Given the description of an element on the screen output the (x, y) to click on. 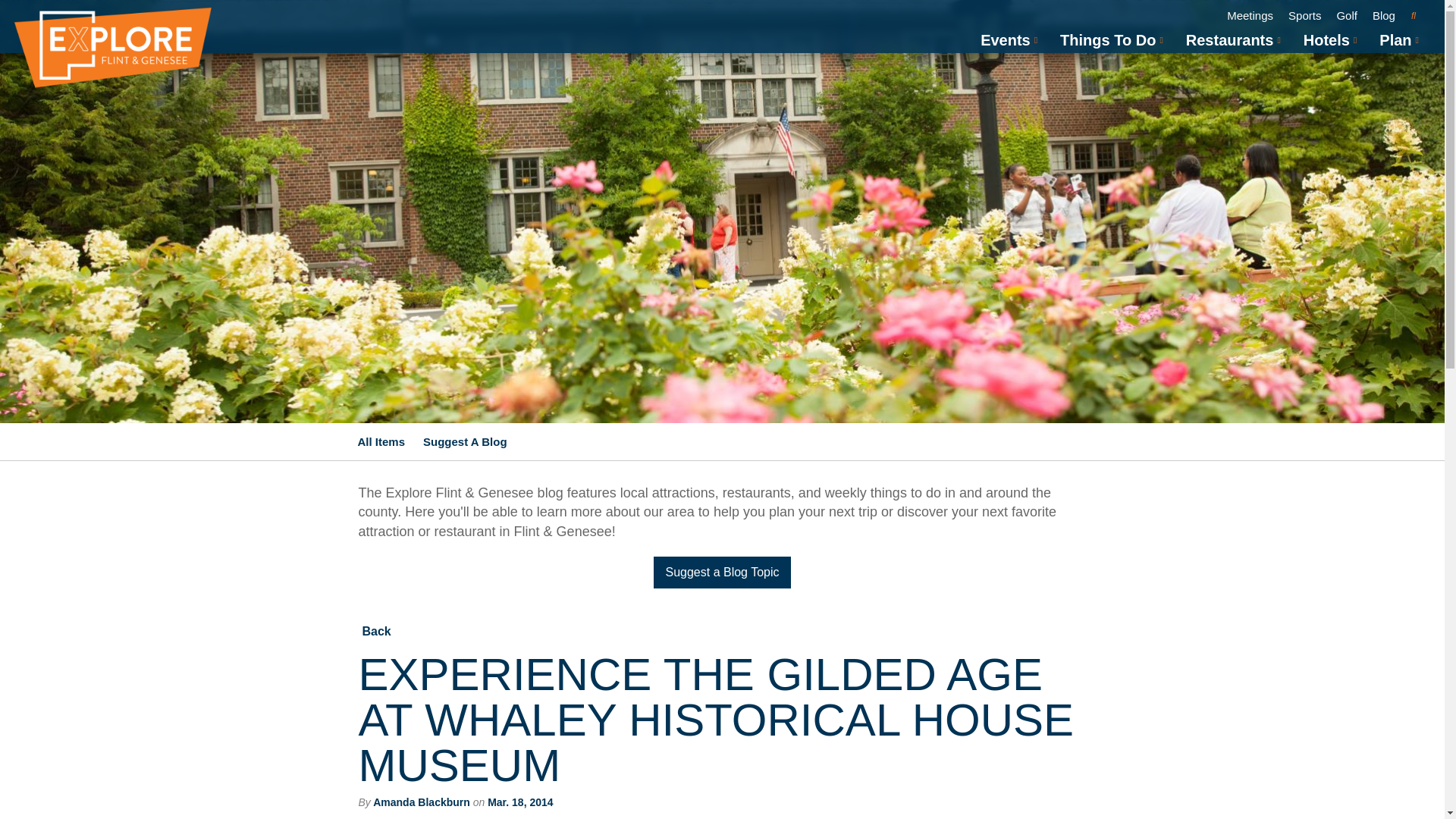
Hotels (1326, 39)
Sports (1304, 15)
Things To Do (1107, 39)
Plan (1394, 39)
Events (1004, 39)
Restaurants (1230, 39)
Golf (1346, 15)
Blog (1383, 15)
Meetings (1249, 15)
